Given the description of an element on the screen output the (x, y) to click on. 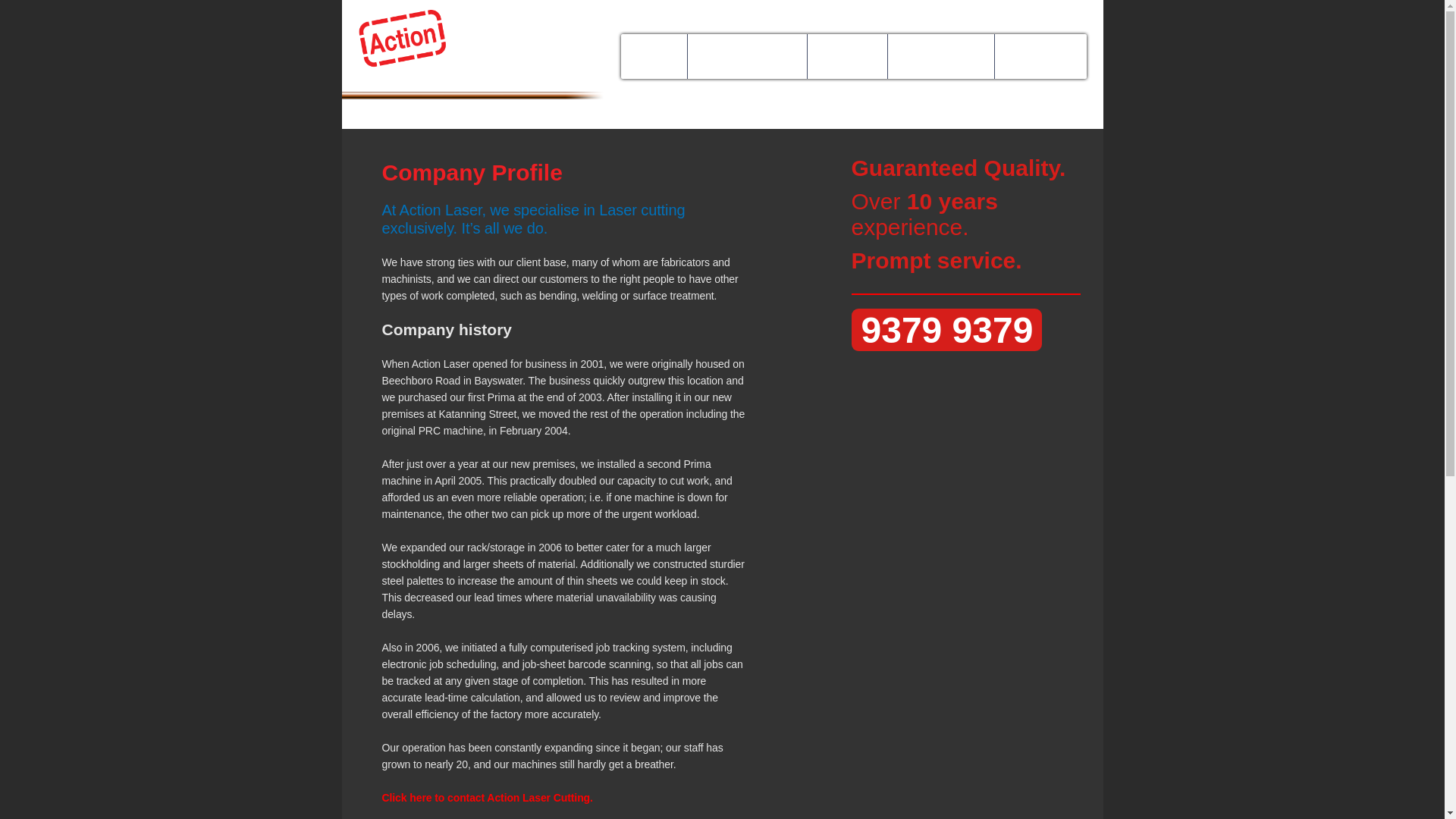
Home (654, 56)
Our Machines (939, 56)
Click here to contact Action Laser Cutting. (486, 797)
Services (846, 56)
Contact Us (1040, 56)
9379 9379 (946, 329)
Company Profile (746, 56)
